Given the description of an element on the screen output the (x, y) to click on. 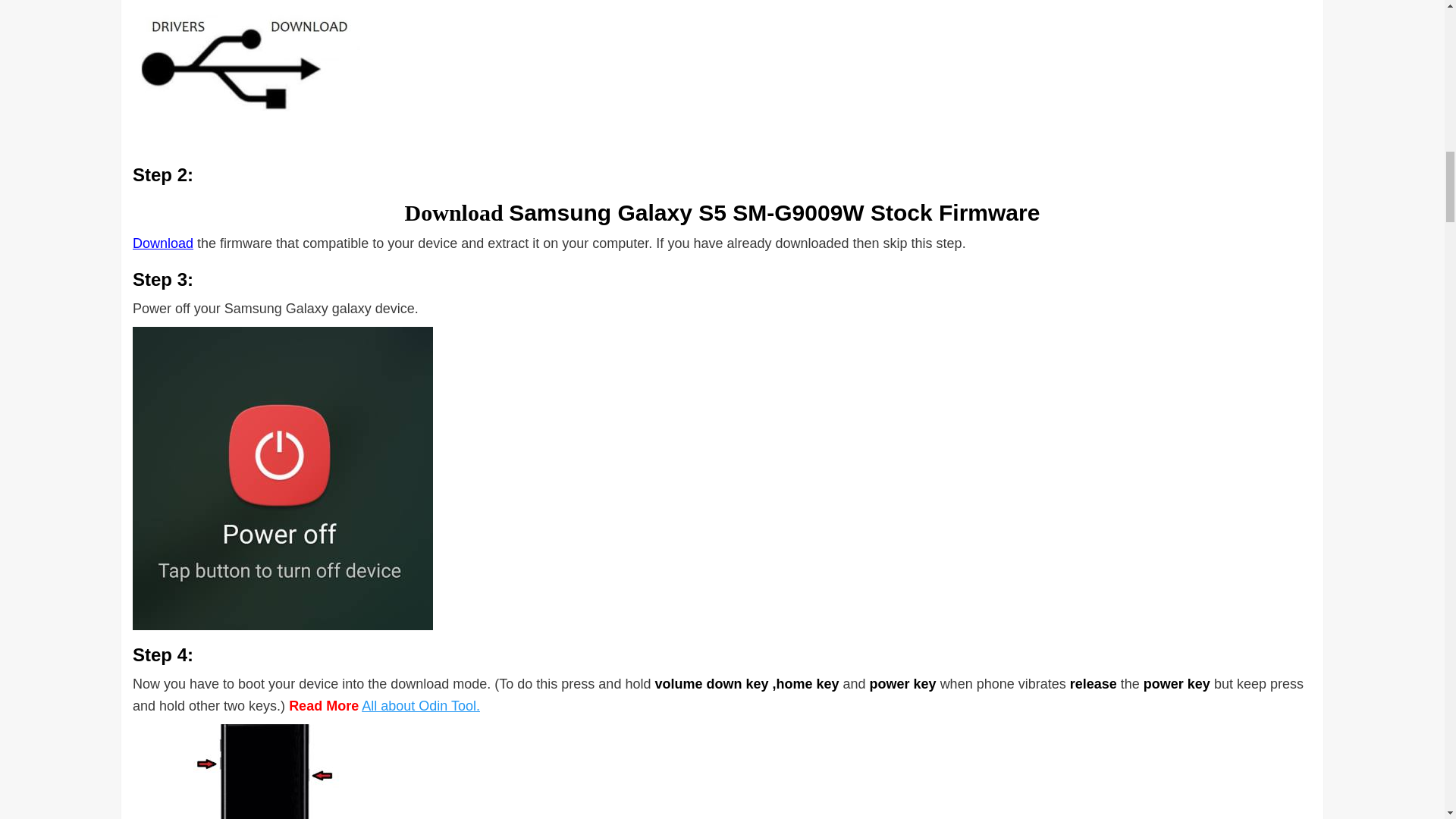
All about Odin Tool. (420, 705)
Download (162, 242)
